Given the description of an element on the screen output the (x, y) to click on. 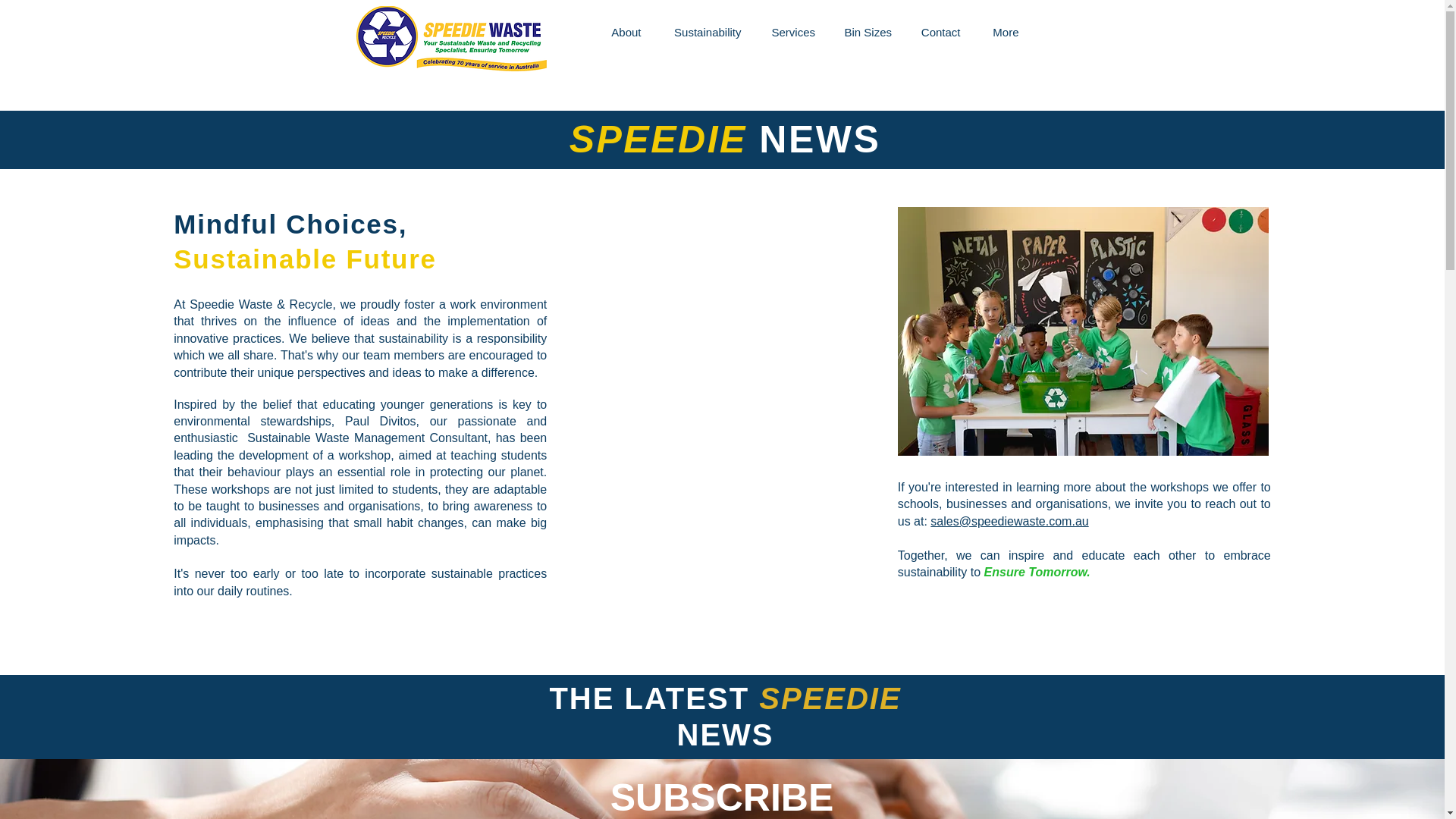
About (625, 31)
Bin Sizes (867, 31)
Contact (940, 31)
Sustainability (706, 31)
Services (793, 31)
